Given the description of an element on the screen output the (x, y) to click on. 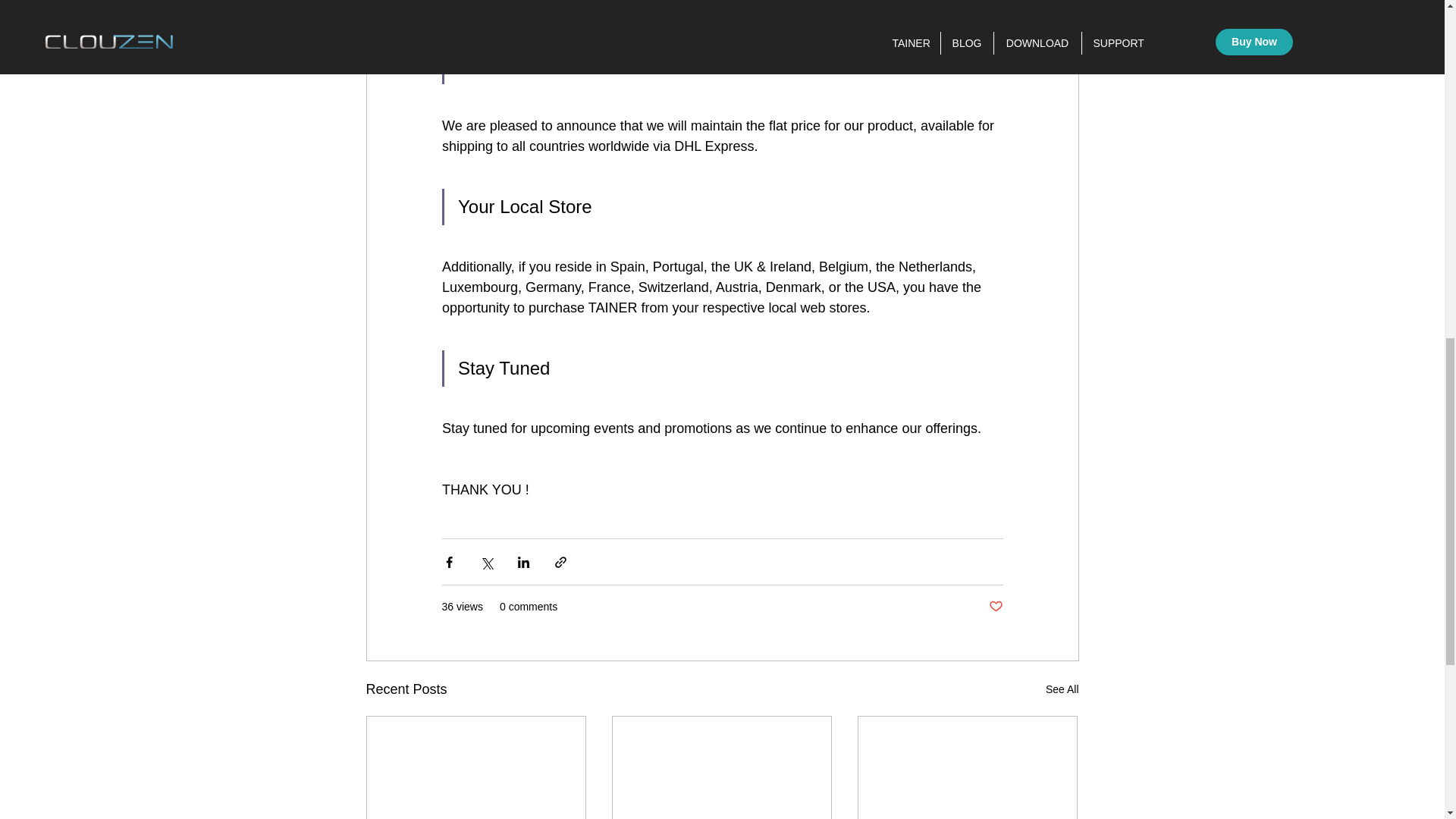
Post not marked as liked (995, 606)
See All (1061, 689)
